Given the description of an element on the screen output the (x, y) to click on. 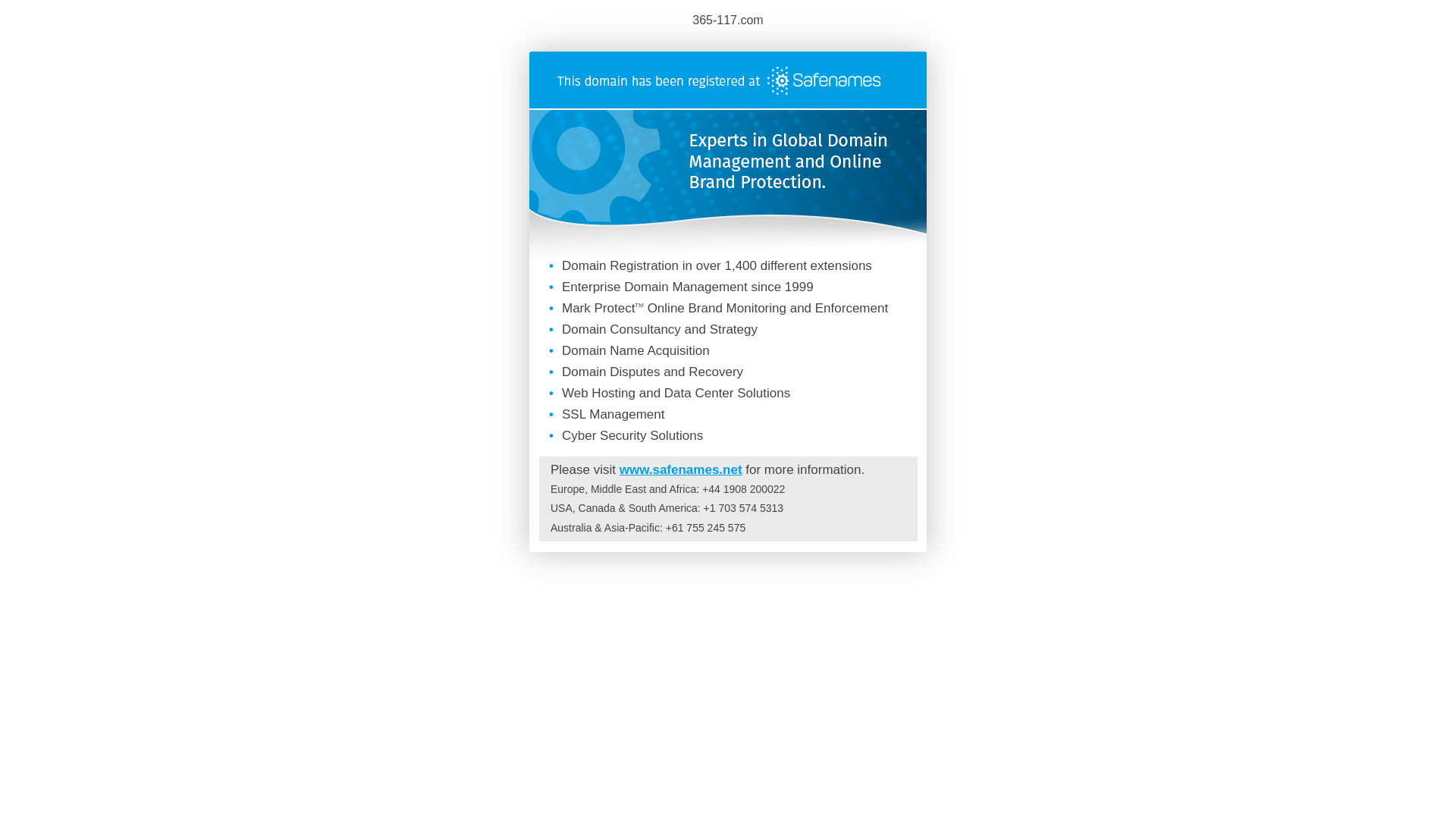
www.safenames.net Element type: text (680, 469)
